Given the description of an element on the screen output the (x, y) to click on. 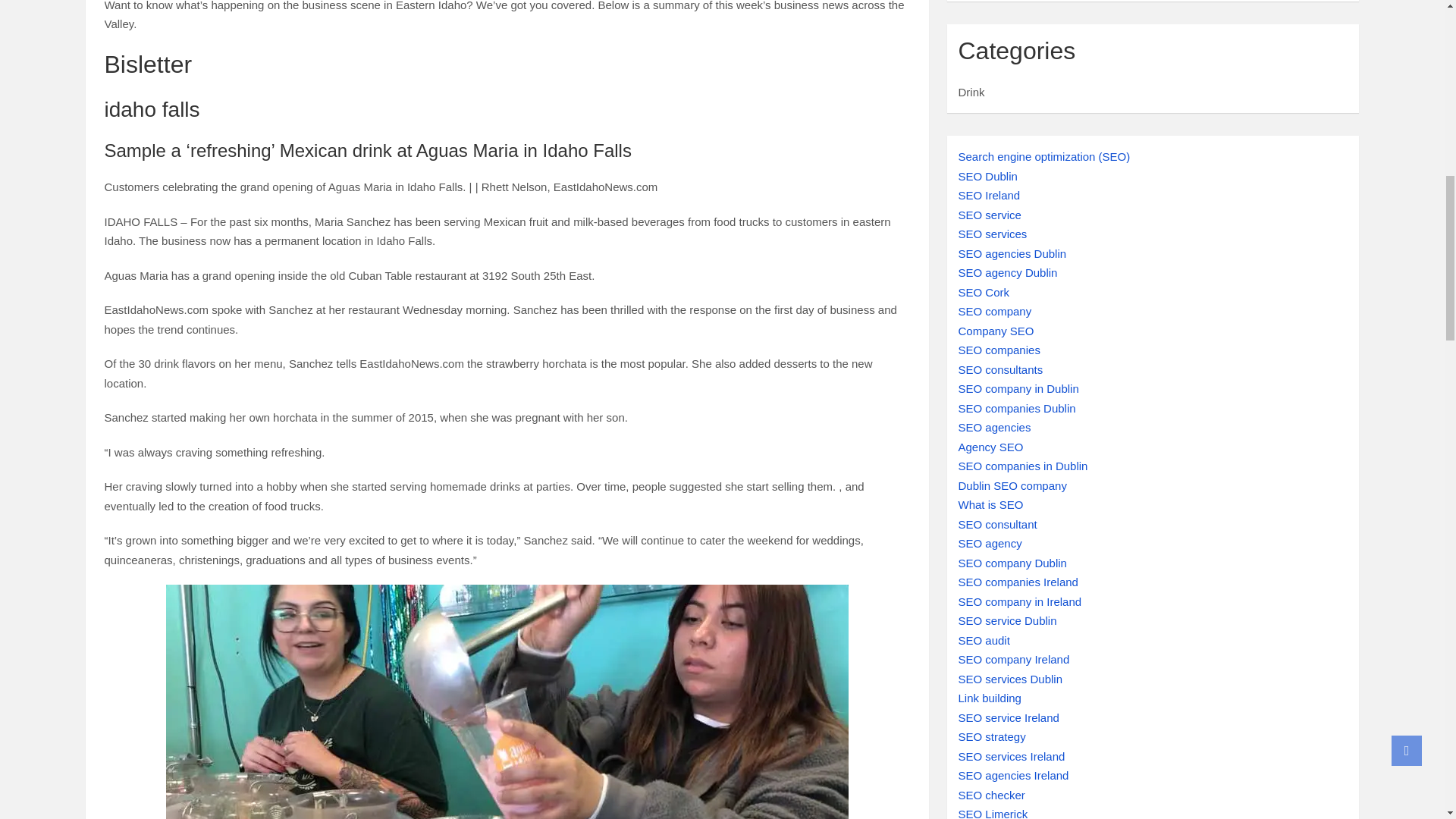
SEO services (992, 233)
SEO Ireland (989, 195)
SEO Dublin (987, 175)
SEO service (990, 214)
SEO agency Dublin (1008, 272)
SEO agencies Dublin (1012, 253)
Drink (971, 91)
SEO Cork (984, 291)
